Given the description of an element on the screen output the (x, y) to click on. 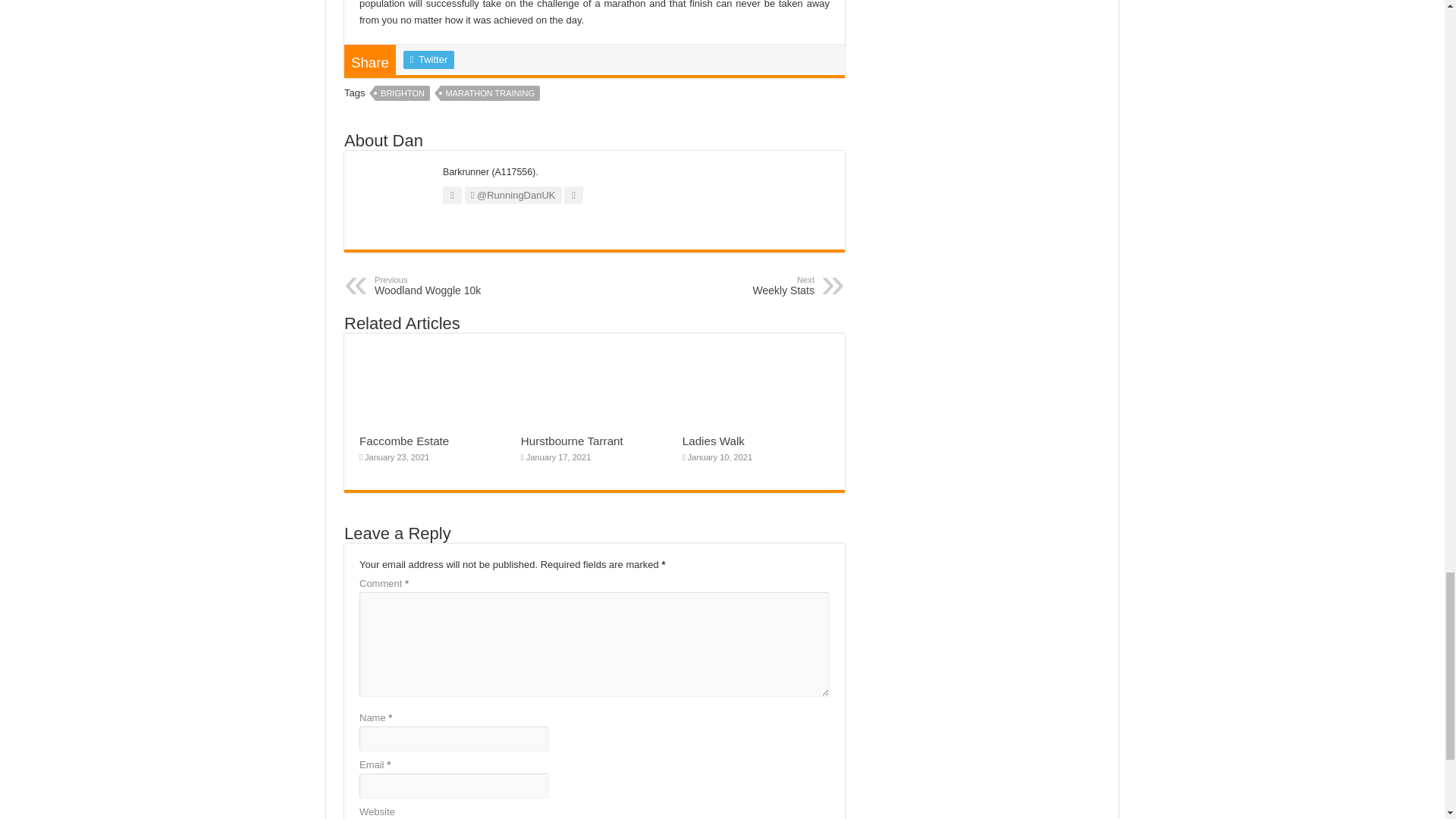
MARATHON TRAINING (490, 92)
BRIGHTON (451, 285)
Twitter (402, 92)
